Given the description of an element on the screen output the (x, y) to click on. 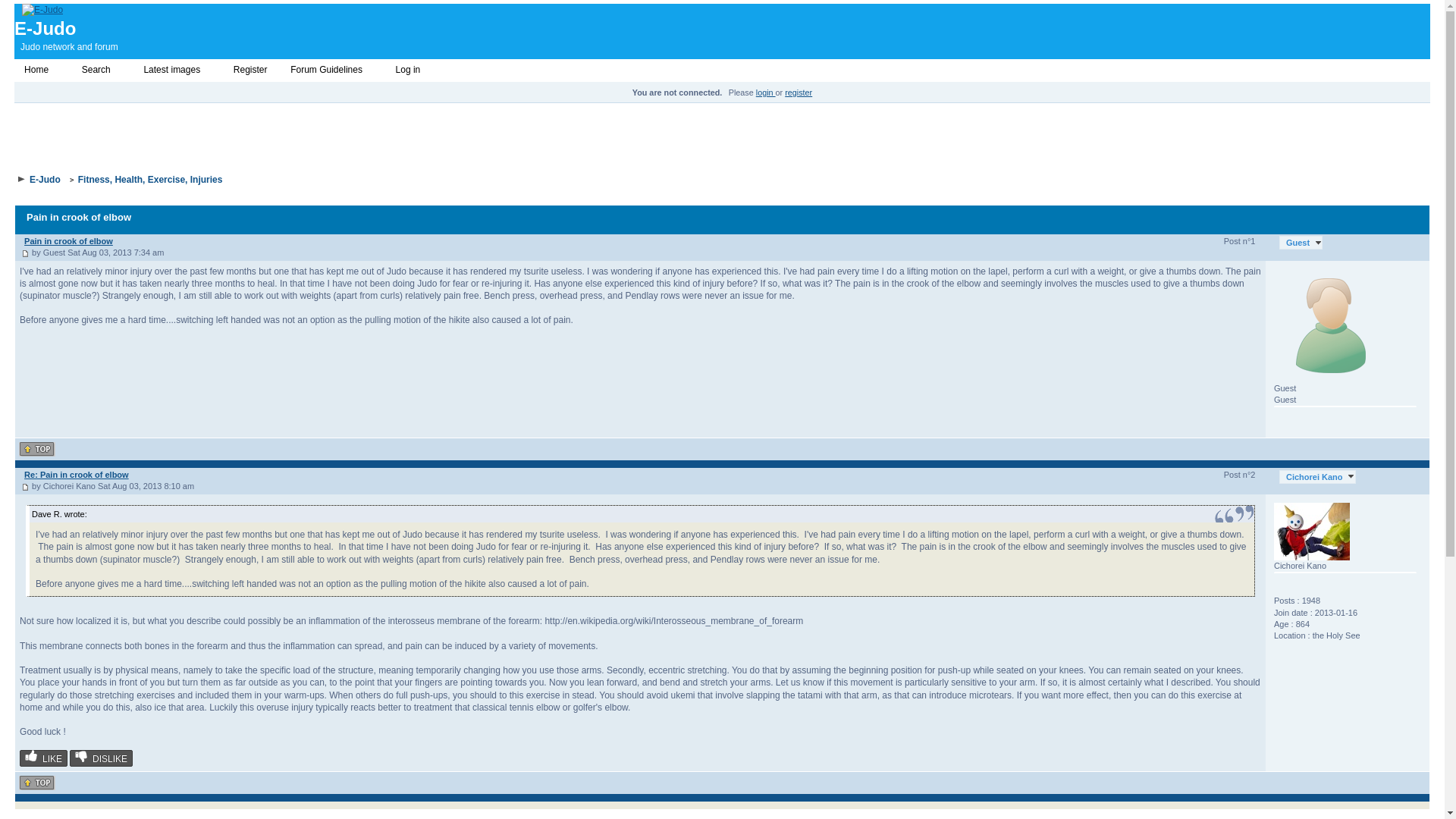
Latest images (137, 71)
Latest images (171, 70)
Home (36, 70)
Search (95, 70)
Home (19, 71)
E-Judo (41, 9)
login (765, 92)
Register (250, 70)
E-Judo (45, 179)
Post (25, 487)
Search (76, 71)
register (798, 92)
Forum Guidelines (330, 70)
Cichorei Kano (1317, 477)
Log in (390, 71)
